Given the description of an element on the screen output the (x, y) to click on. 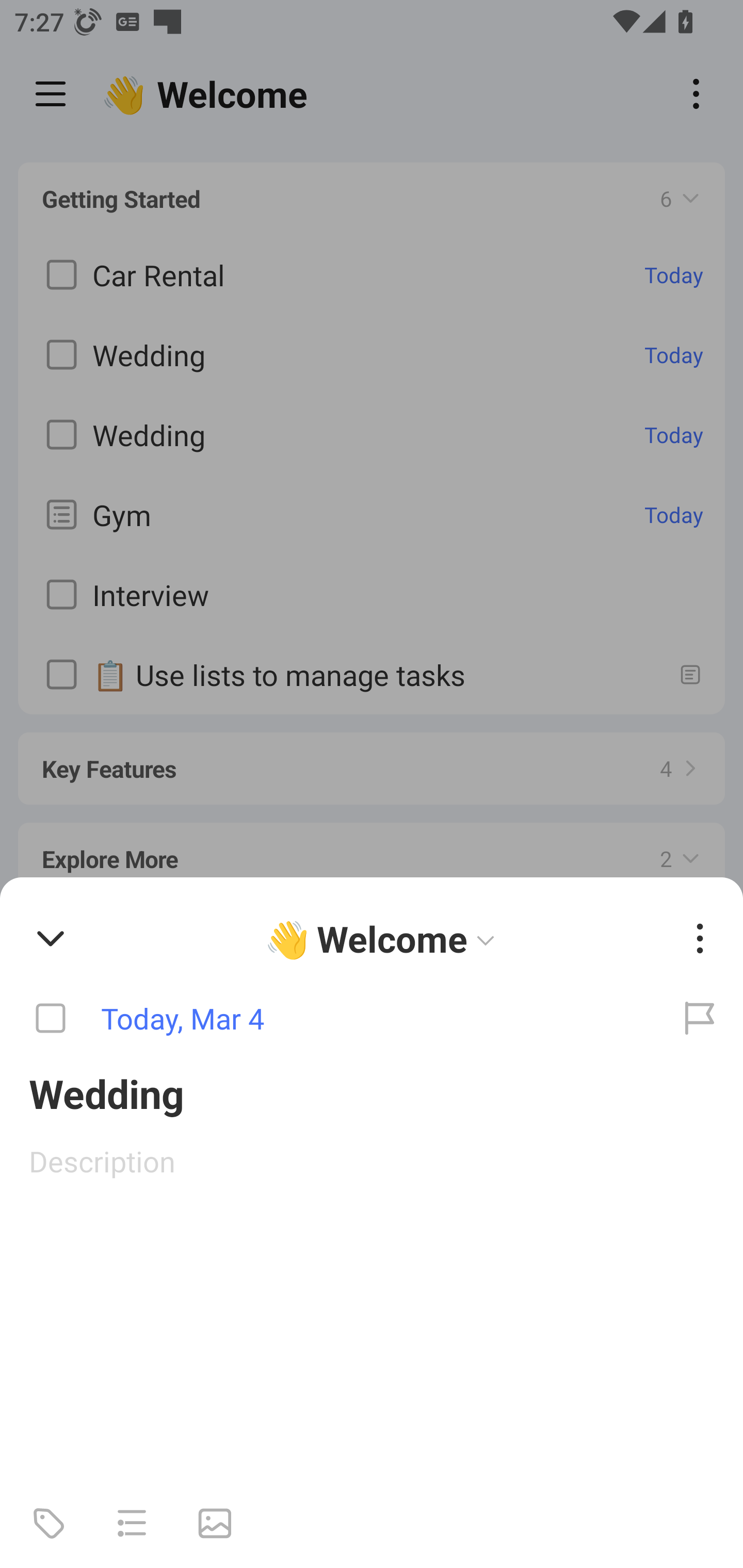
👋 Welcome (384, 938)
Today, Mar 4  (328, 1019)
Wedding (371, 1092)
Description (371, 1160)
Description (371, 1160)
